Given the description of an element on the screen output the (x, y) to click on. 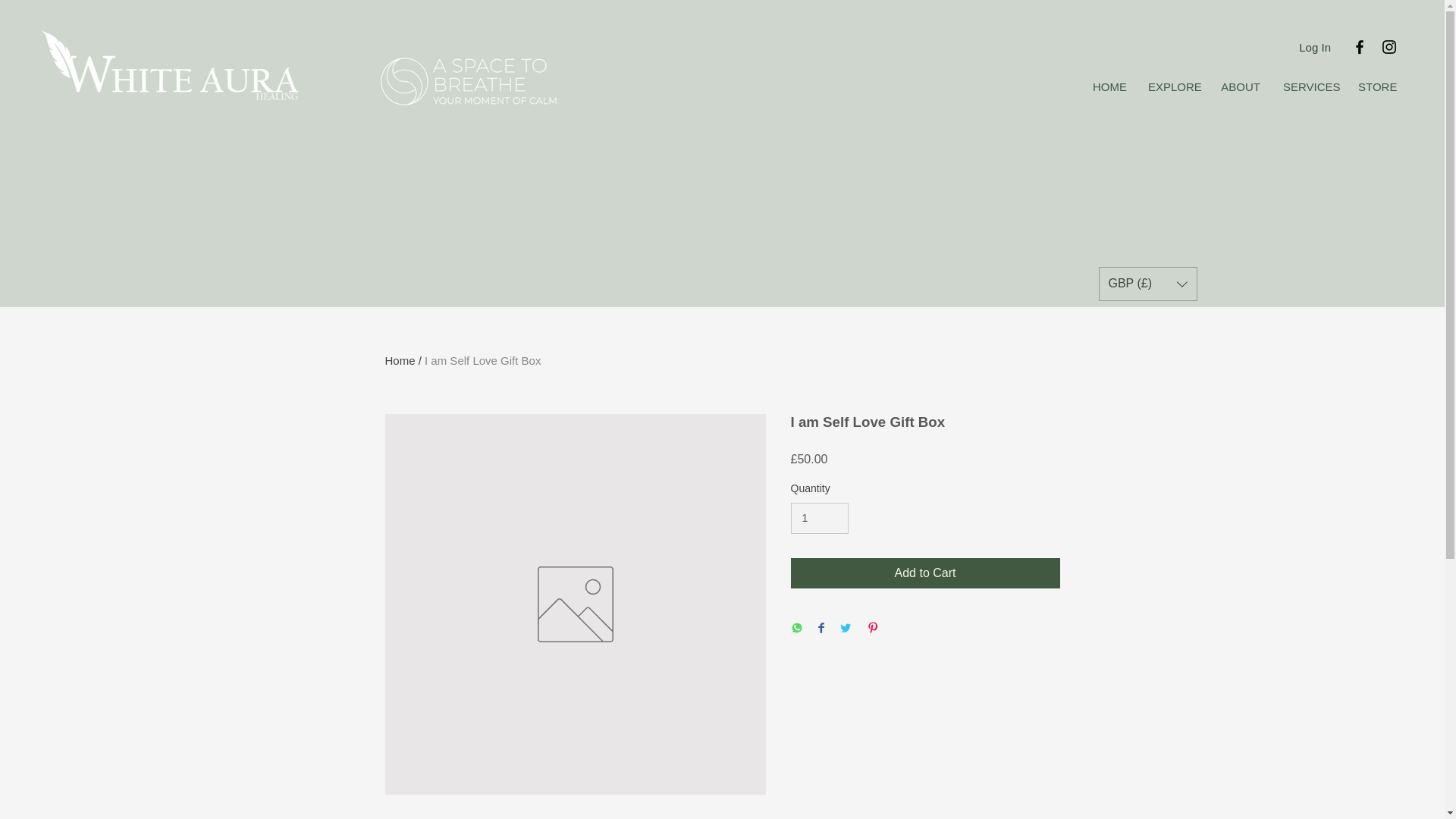
STORE (1376, 86)
HOME (1109, 86)
SERVICES (1308, 86)
I am Self Love Gift Box (482, 359)
ABOUT (1240, 86)
Log In (1314, 47)
1 (818, 517)
Home (399, 359)
EXPLORE (1173, 86)
Add to Cart (924, 572)
